Given the description of an element on the screen output the (x, y) to click on. 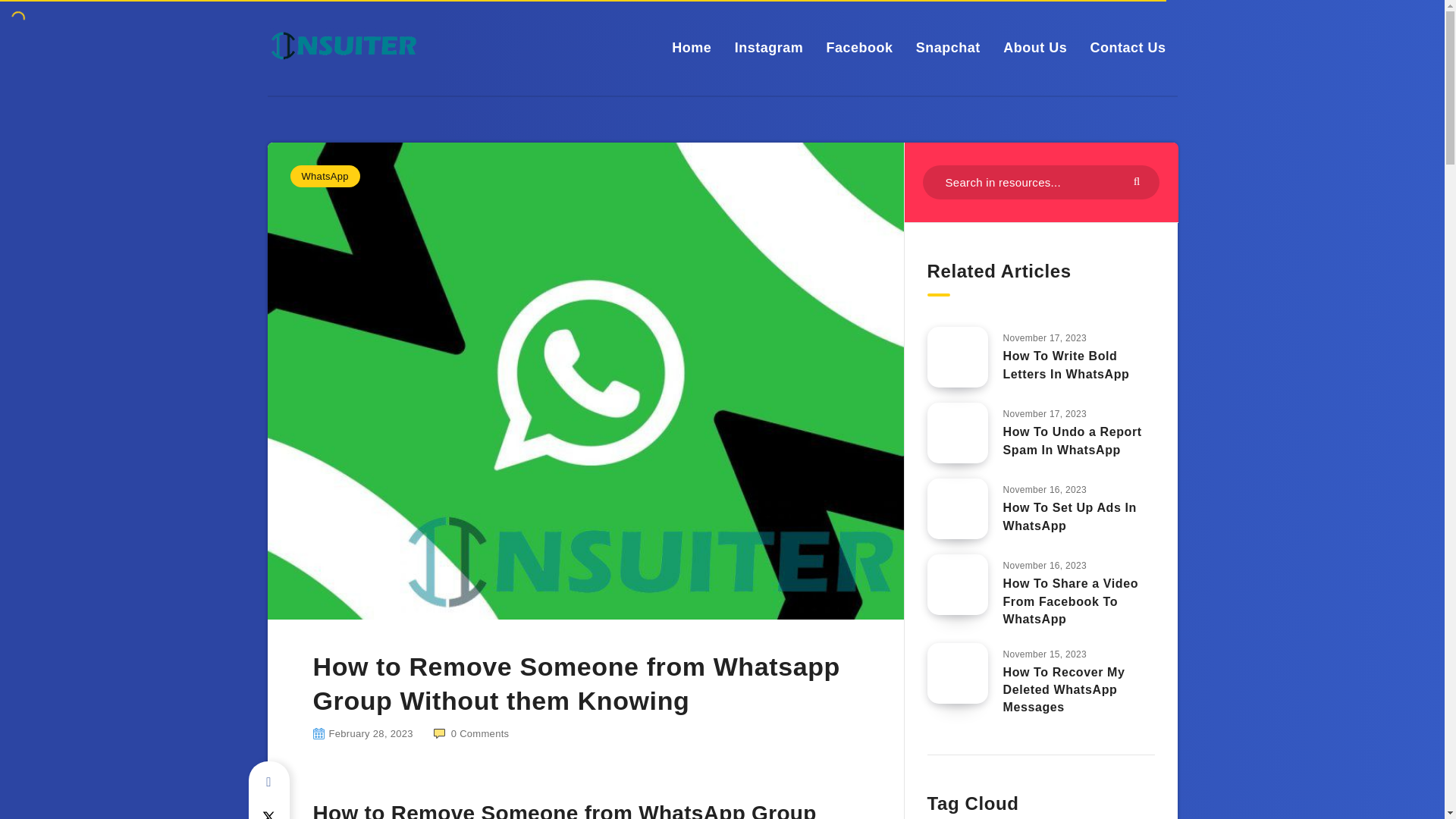
Go to comments (471, 733)
0 Comments (471, 733)
How To Undo a Report Spam In WhatsApp (1072, 442)
About Us (1035, 47)
Snapchat (947, 47)
WhatsApp (324, 176)
How To Write Bold Letters In WhatsApp (1066, 366)
Home (691, 47)
Instagram (769, 47)
How To Recover My Deleted WhatsApp Messages (1063, 691)
